Given the description of an element on the screen output the (x, y) to click on. 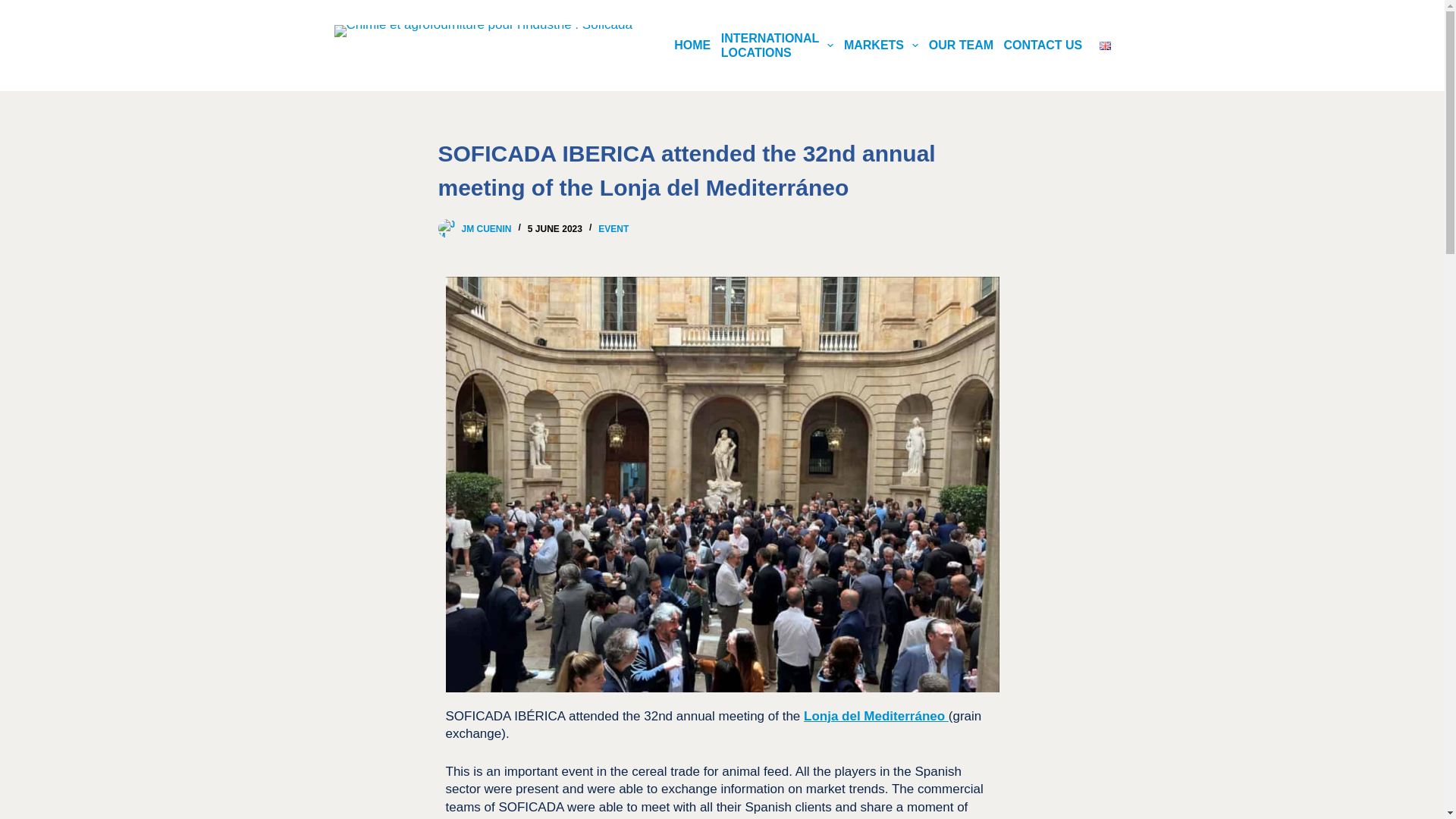
Skip to content (777, 45)
CONTACT US (15, 7)
Posts by JM Cuenin (1042, 45)
